Given the description of an element on the screen output the (x, y) to click on. 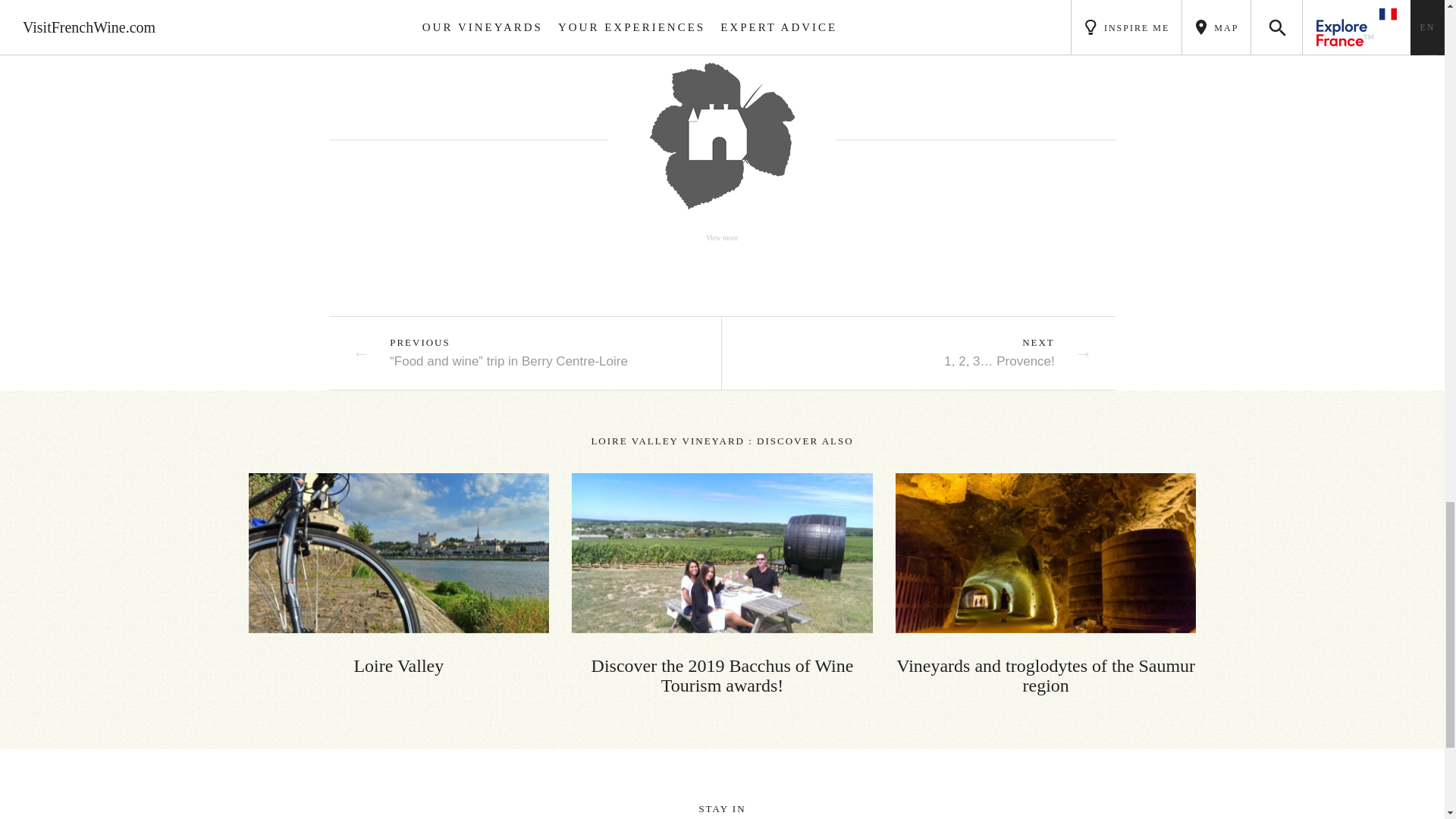
Discover the 2019 Bacchus of Wine Tourism awards! (722, 584)
Loire Valley (399, 574)
Saumur, Loire Valley (399, 553)
Vineyards and troglodytes of the Saumur region (1045, 584)
